Given the description of an element on the screen output the (x, y) to click on. 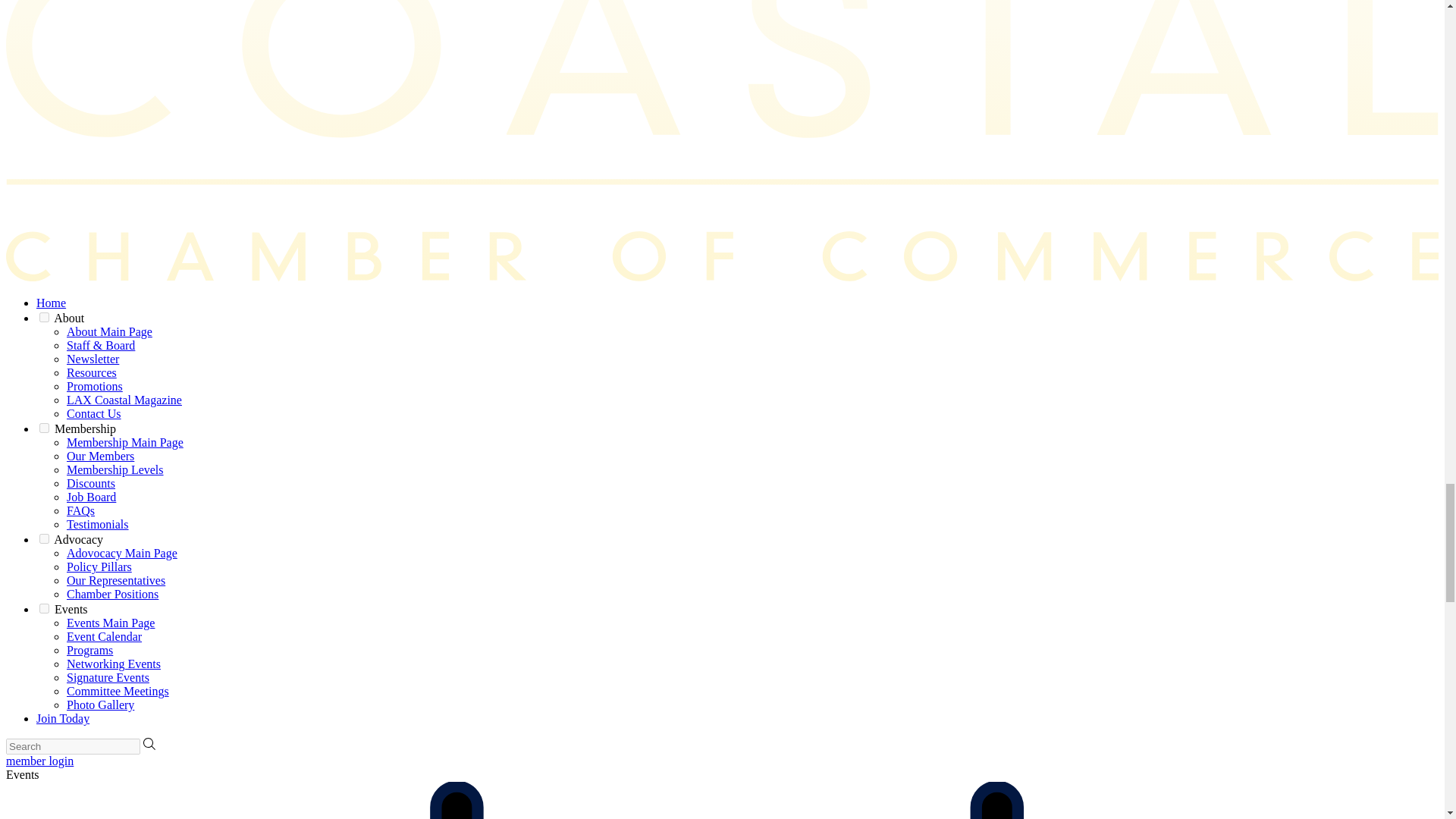
Signature Events (107, 676)
member login (39, 760)
Our Representatives (115, 580)
Resources (91, 372)
Job Board (91, 496)
Membership Main Page (124, 441)
Events Main Page (110, 622)
Photo Gallery (99, 704)
FAQs (80, 510)
LAX Coastal Magazine (124, 399)
